Given the description of an element on the screen output the (x, y) to click on. 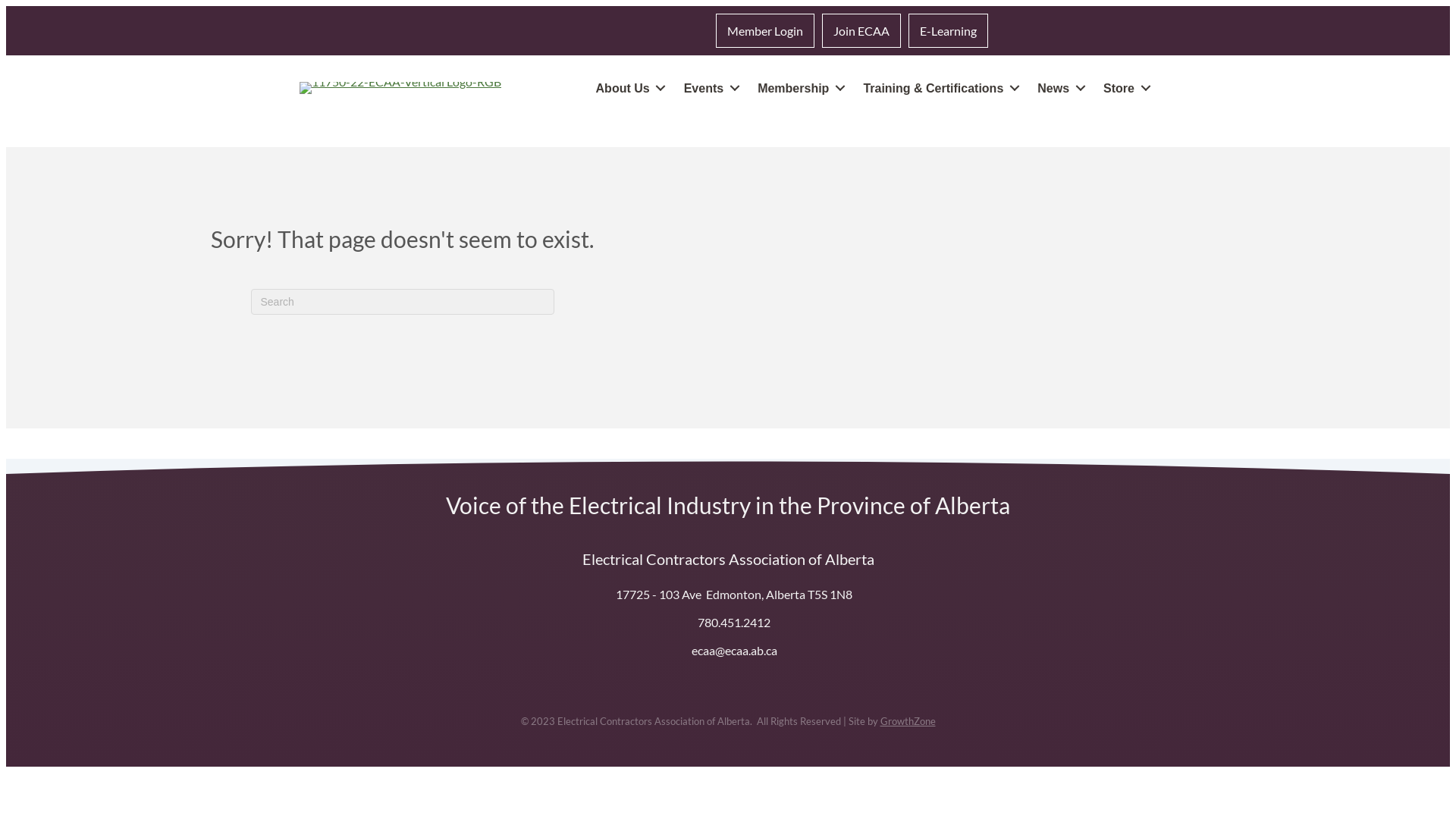
Member Login Element type: text (764, 30)
ecaa@ecaa.ab.ca Element type: text (734, 650)
Store Element type: text (1124, 88)
Training & Certifications Element type: text (938, 88)
News Element type: text (1058, 88)
17725 - 103 Ave  Edmonton, Alberta T5S 1N8 Element type: text (733, 593)
Membership Element type: text (798, 88)
Events Element type: text (708, 88)
Type and press Enter to search. Element type: hover (401, 301)
11750-22-ECAA-Vertical Logo-RGB Element type: hover (400, 87)
780.451.2412 Element type: text (733, 622)
E-Learning Element type: text (948, 30)
About Us Element type: text (627, 88)
Join ECAA Element type: text (861, 30)
GrowthZone Element type: text (907, 721)
